Given the description of an element on the screen output the (x, y) to click on. 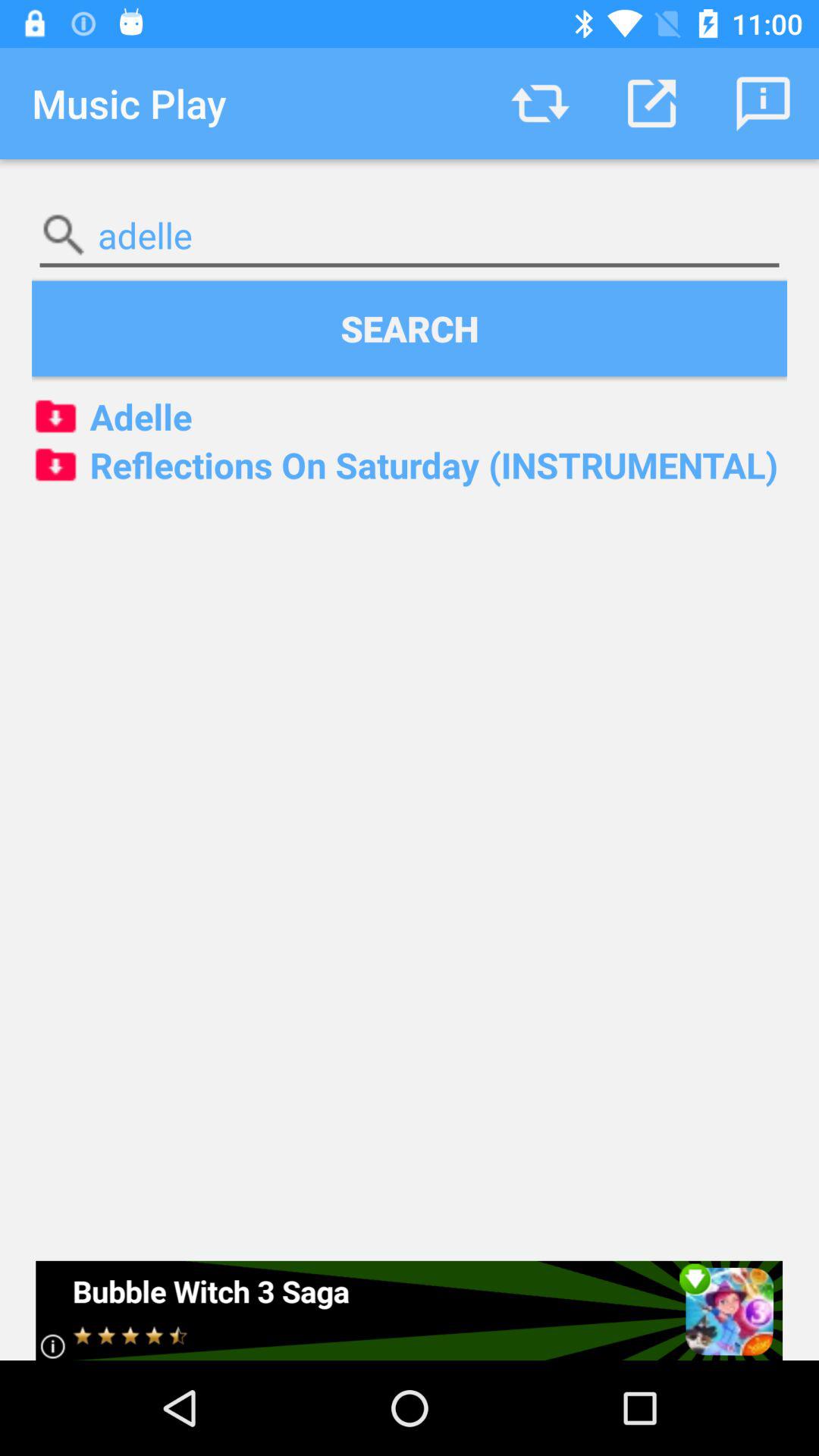
choose the app to the right of music play item (540, 103)
